Given the description of an element on the screen output the (x, y) to click on. 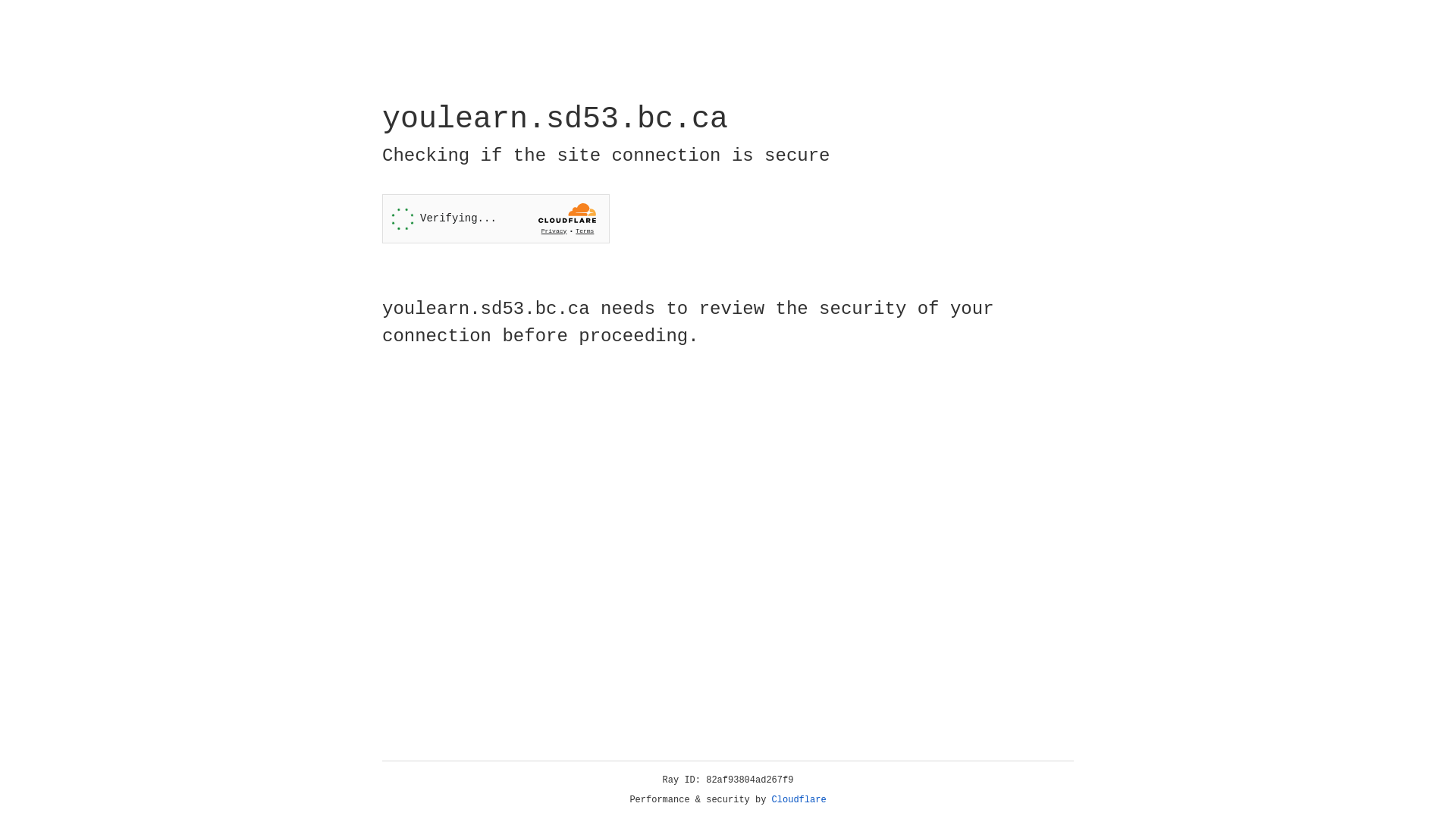
Widget containing a Cloudflare security challenge Element type: hover (495, 218)
Cloudflare Element type: text (798, 799)
